Given the description of an element on the screen output the (x, y) to click on. 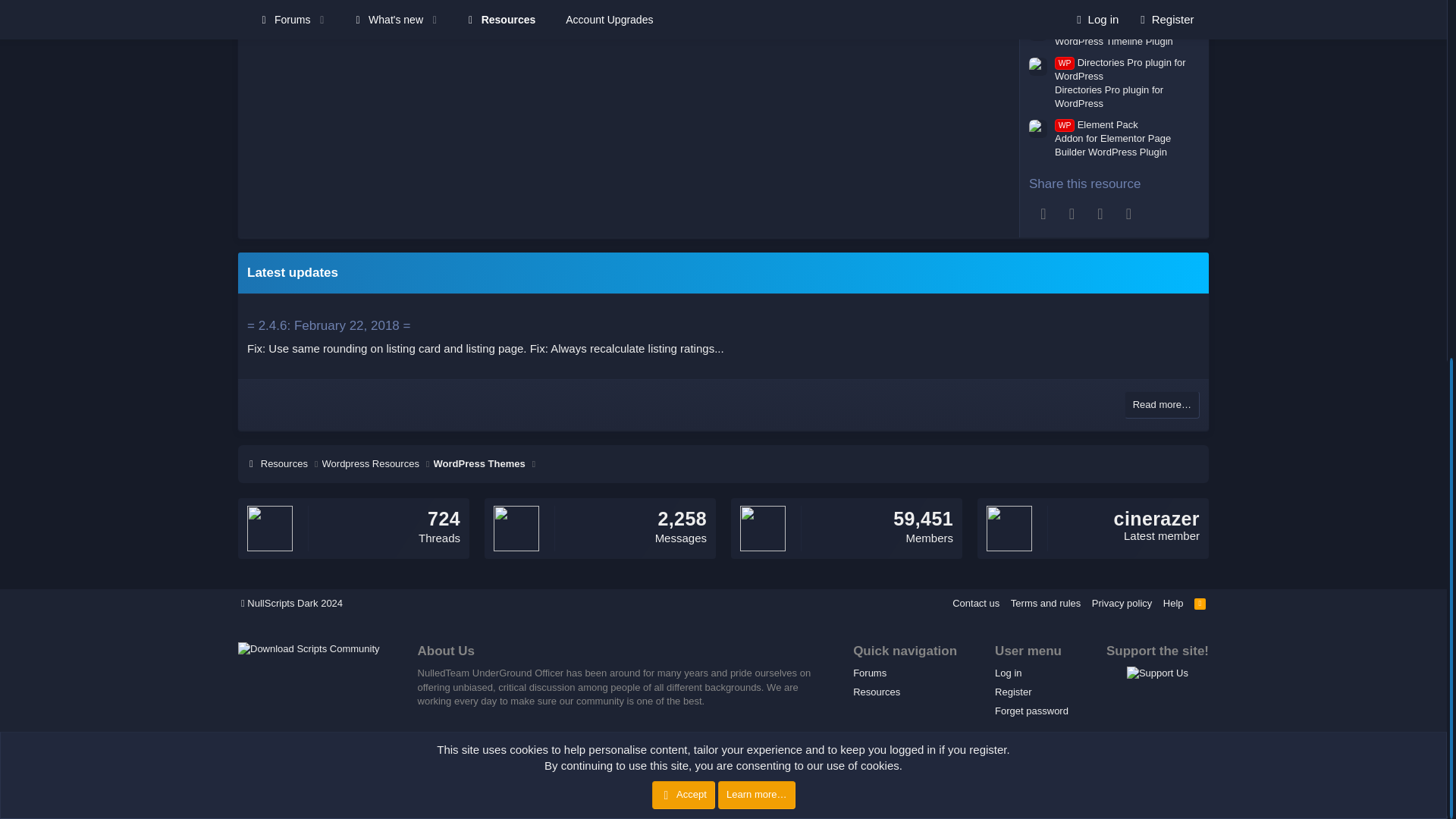
Style chooser (292, 603)
RSS (1199, 603)
